Given the description of an element on the screen output the (x, y) to click on. 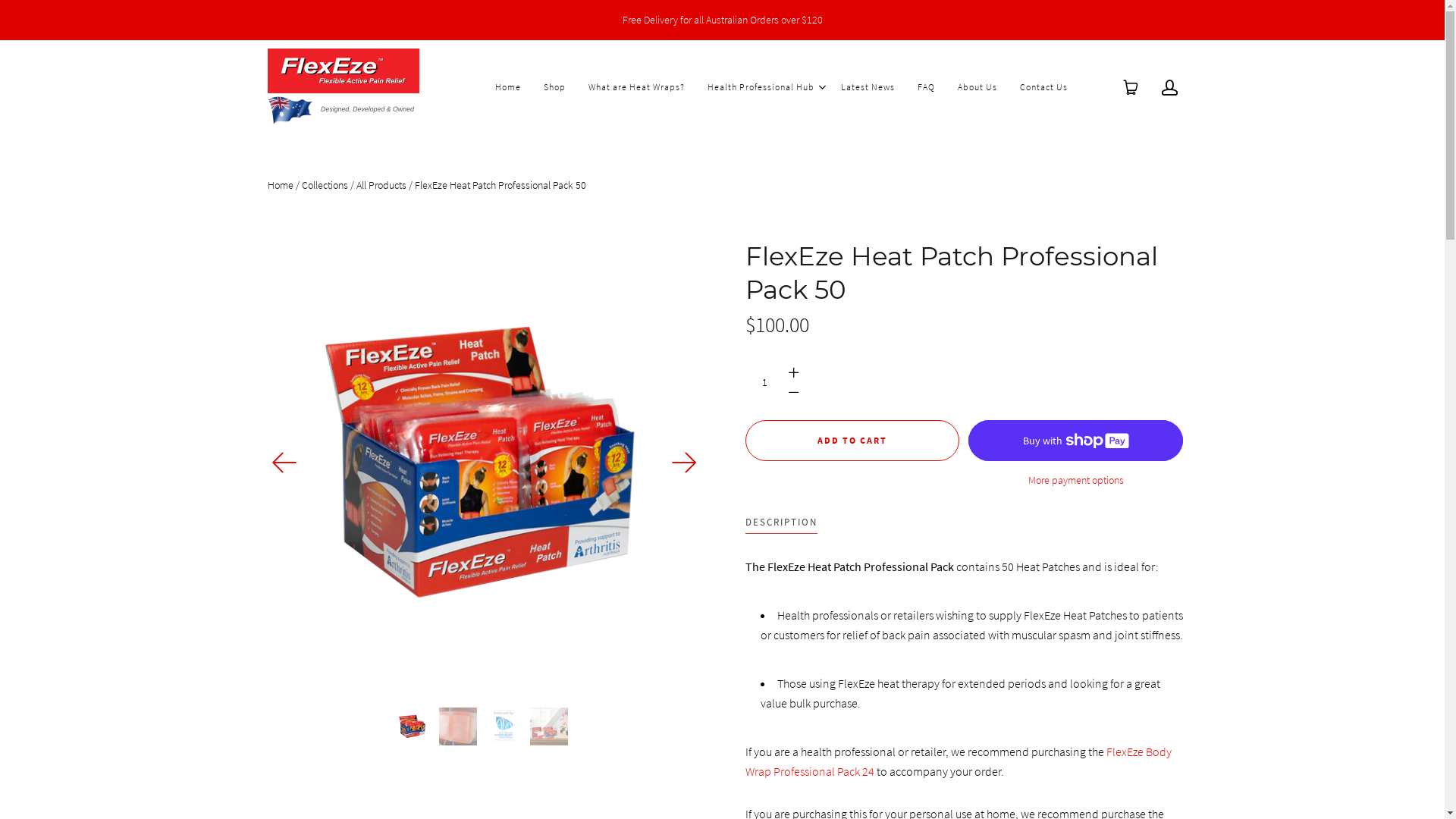
All Products Element type: text (381, 184)
Add to cart Element type: text (851, 440)
Shop Element type: text (553, 86)
About Us Element type: text (976, 86)
Collections Element type: text (324, 184)
What are Heat Wraps? Element type: text (636, 86)
Free Delivery for all Australian Orders over $120 Element type: text (722, 20)
More payment options Element type: text (1075, 480)
Health Professional Hub Element type: text (759, 86)
Latest News Element type: text (867, 86)
FAQ Element type: text (926, 86)
Home Element type: text (507, 86)
FlexEze Body Wrap Professional Pack 24 Element type: text (957, 760)
Contact Us Element type: text (1042, 86)
Home Element type: text (279, 184)
